Given the description of an element on the screen output the (x, y) to click on. 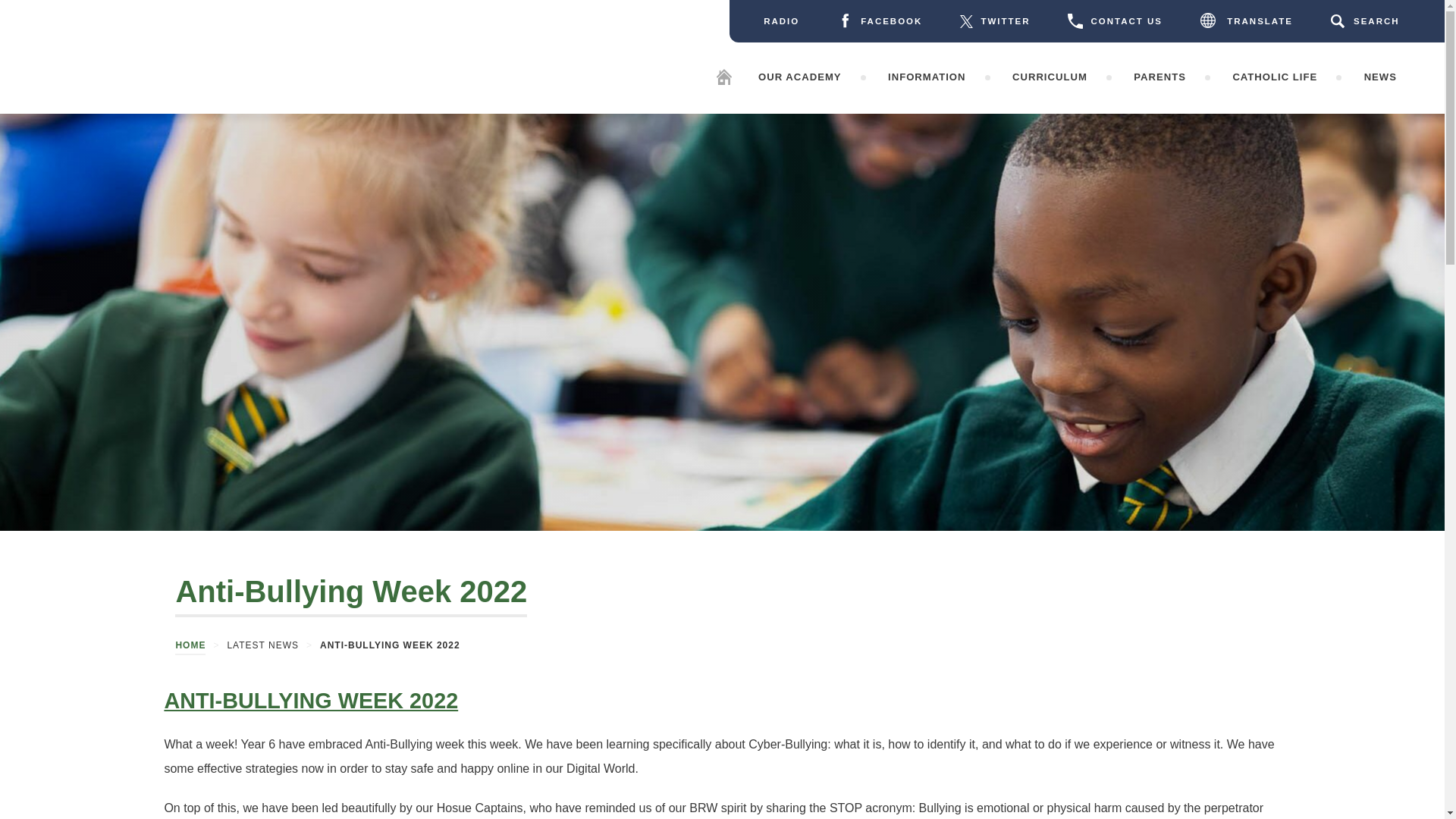
CONTACT US (1114, 20)
FACEBOOK (879, 20)
TWITTER (994, 20)
RADIO (781, 20)
